Given the description of an element on the screen output the (x, y) to click on. 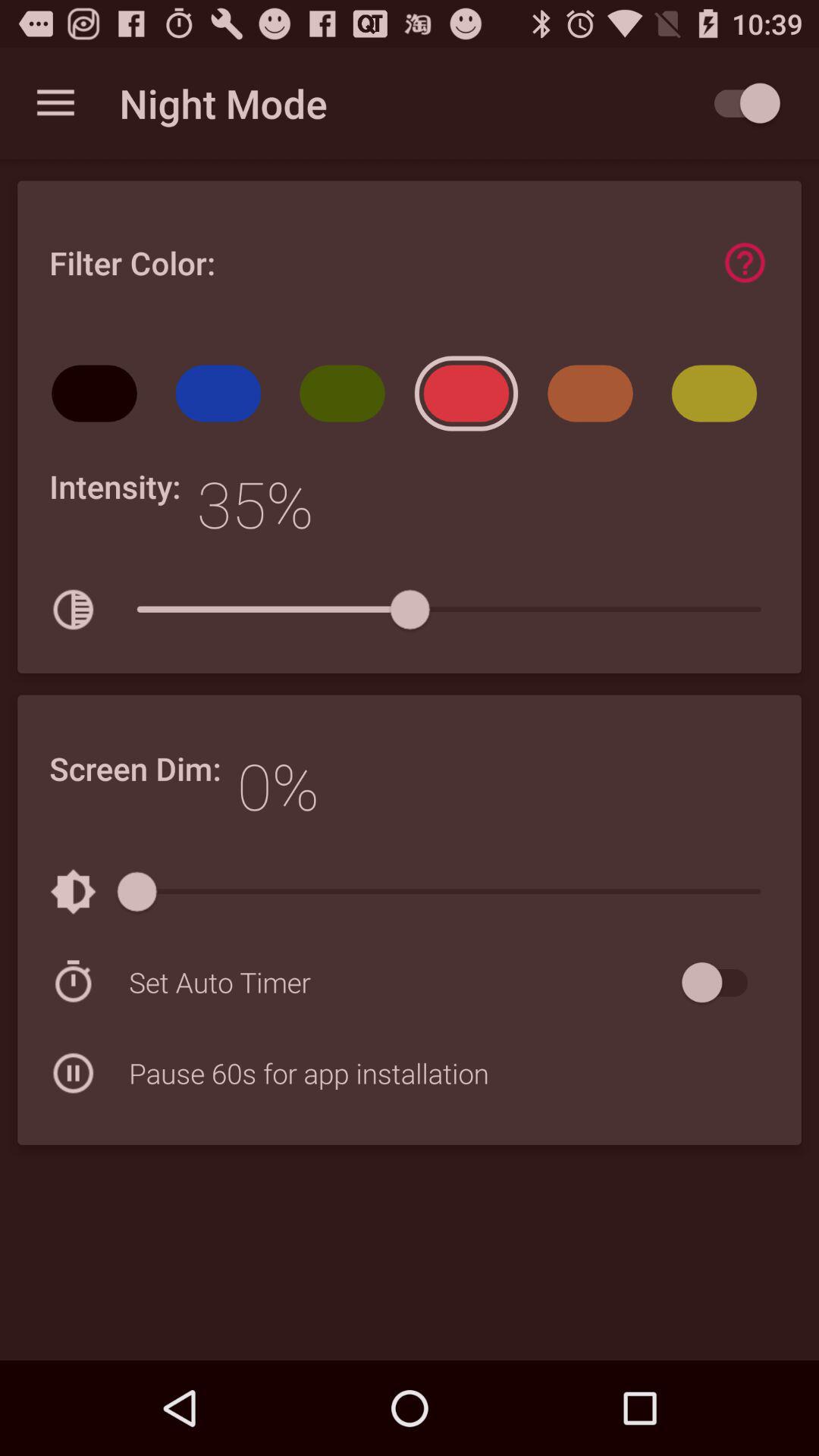
press the item to the right of filter color: item (744, 262)
